Given the description of an element on the screen output the (x, y) to click on. 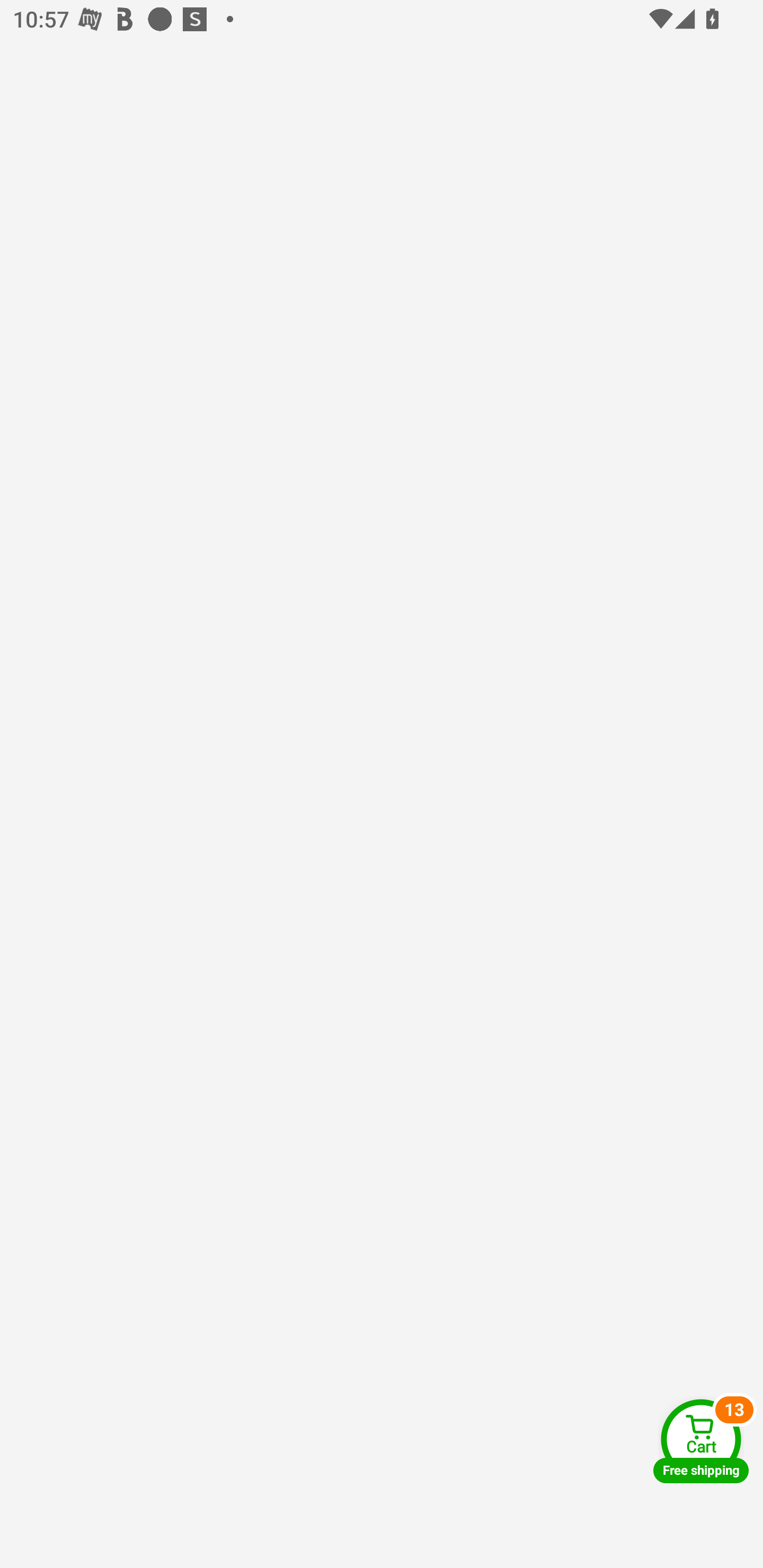
Cart Free shipping Cart (701, 1440)
